Given the description of an element on the screen output the (x, y) to click on. 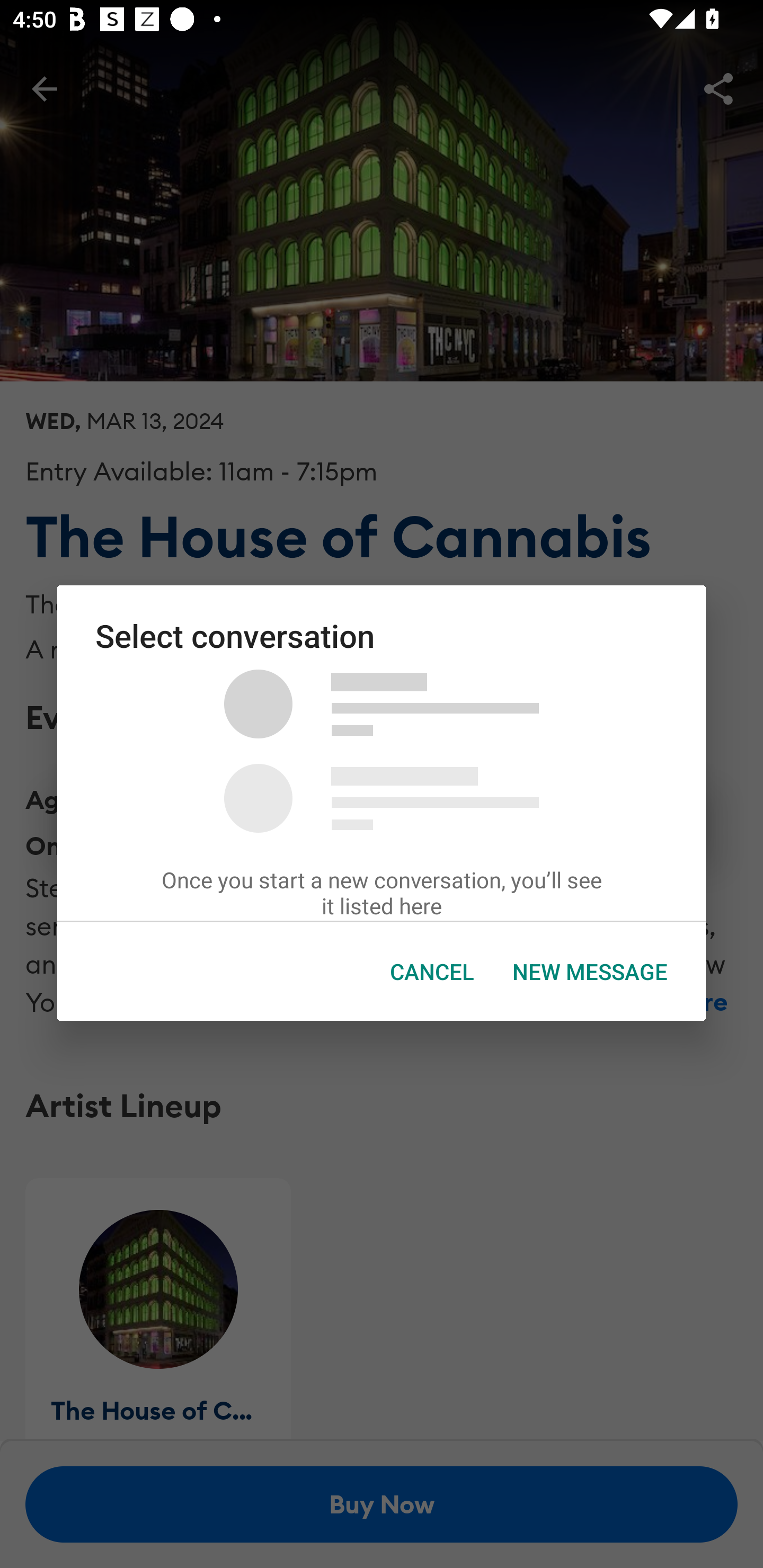
CANCEL (431, 971)
NEW MESSAGE (589, 971)
